Given the description of an element on the screen output the (x, y) to click on. 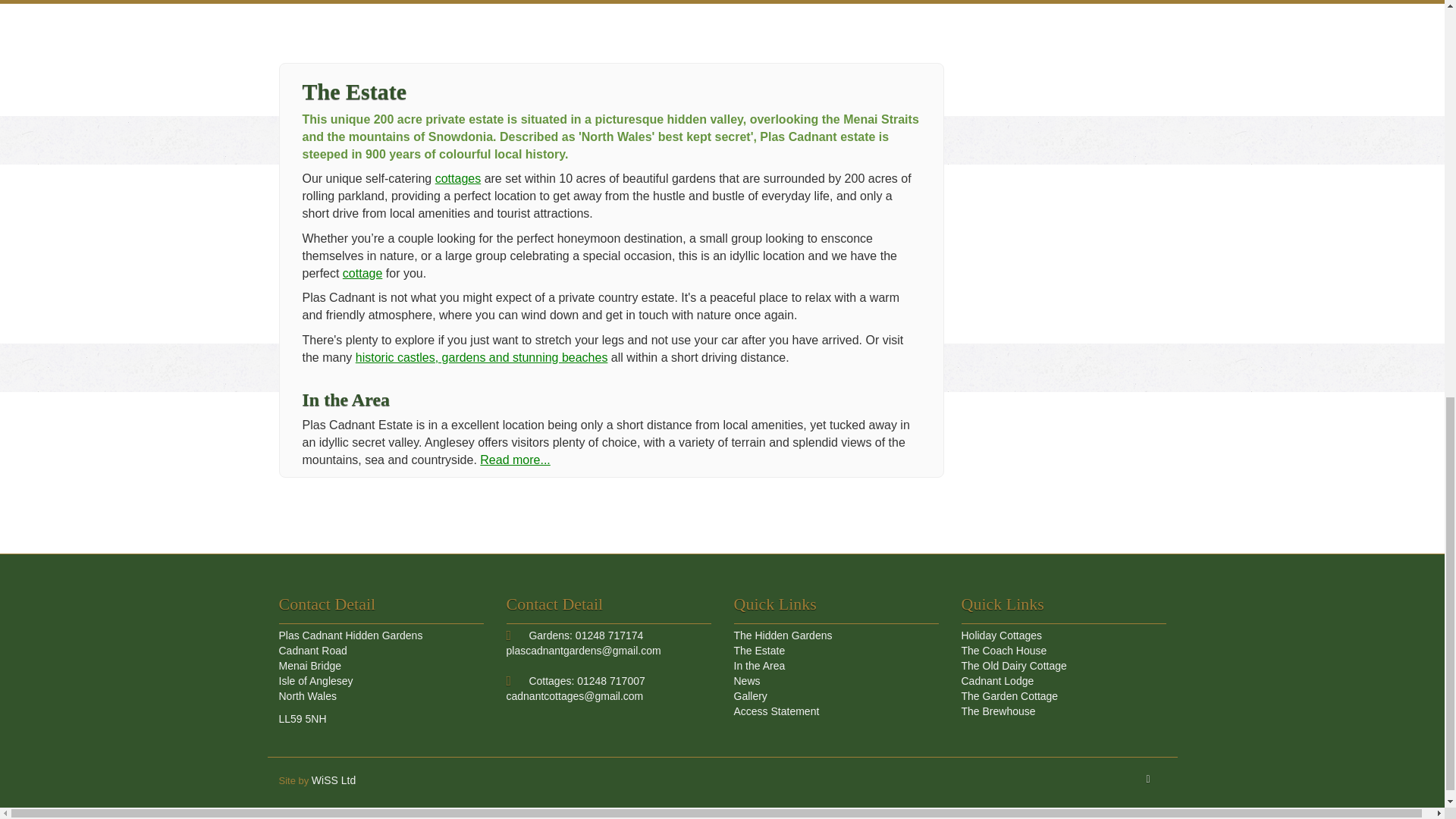
The Garden Cottage (1009, 695)
WiSS Ltd (333, 779)
Gallery (750, 695)
Access Statement (776, 711)
historic castles, gardens and stunning beaches (481, 357)
The Brewhouse (997, 711)
News (746, 680)
Cadnant Lodge (996, 680)
The Estate (759, 650)
Read more... (515, 459)
